Given the description of an element on the screen output the (x, y) to click on. 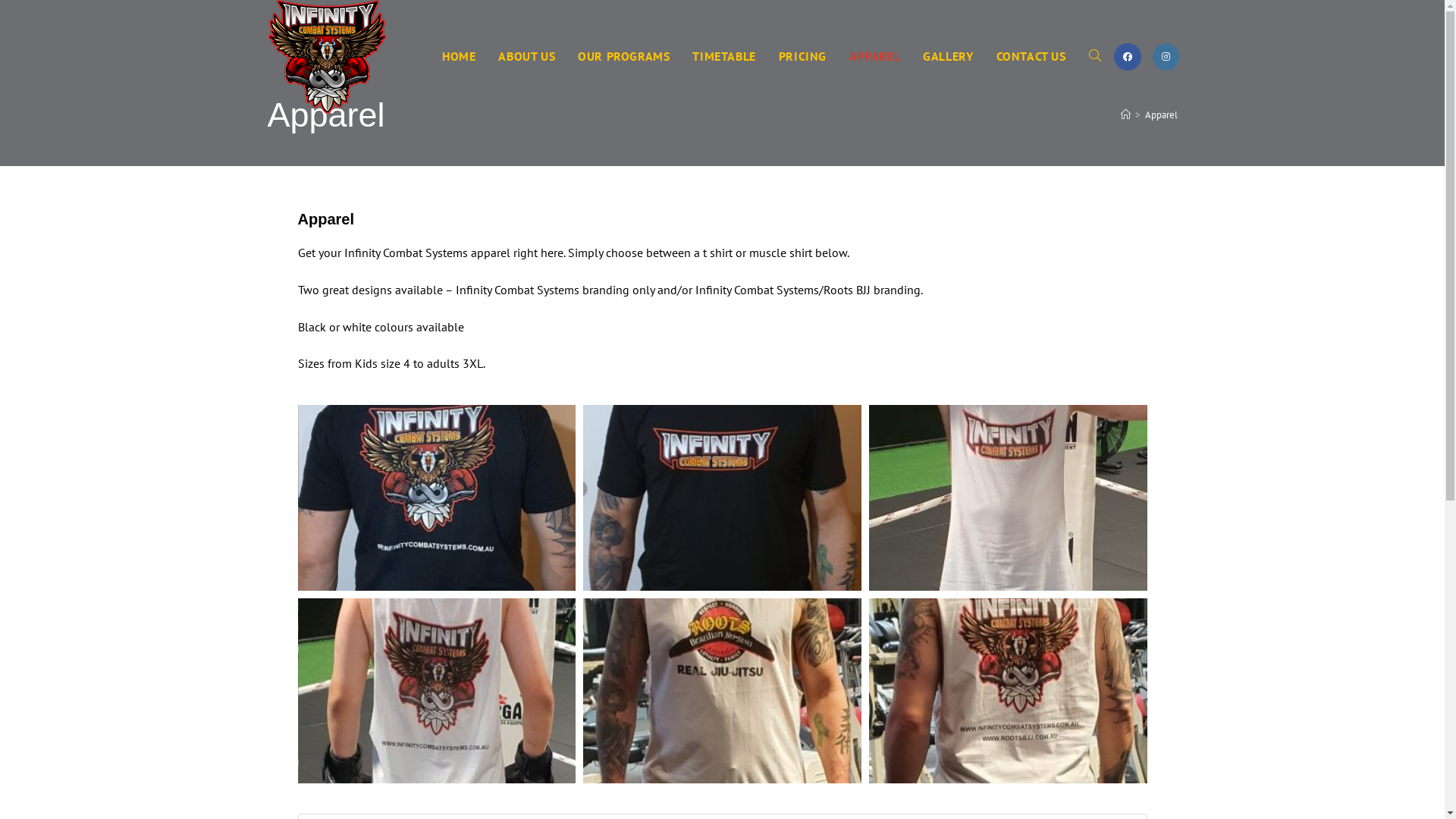
APPAREL Element type: text (874, 56)
PRICING Element type: text (802, 56)
OUR PROGRAMS Element type: text (623, 56)
HOME Element type: text (458, 56)
GALLERY Element type: text (947, 56)
ABOUT US Element type: text (526, 56)
Apparel Element type: text (1161, 113)
TIMETABLE Element type: text (723, 56)
CONTACT US Element type: text (1030, 56)
